Given the description of an element on the screen output the (x, y) to click on. 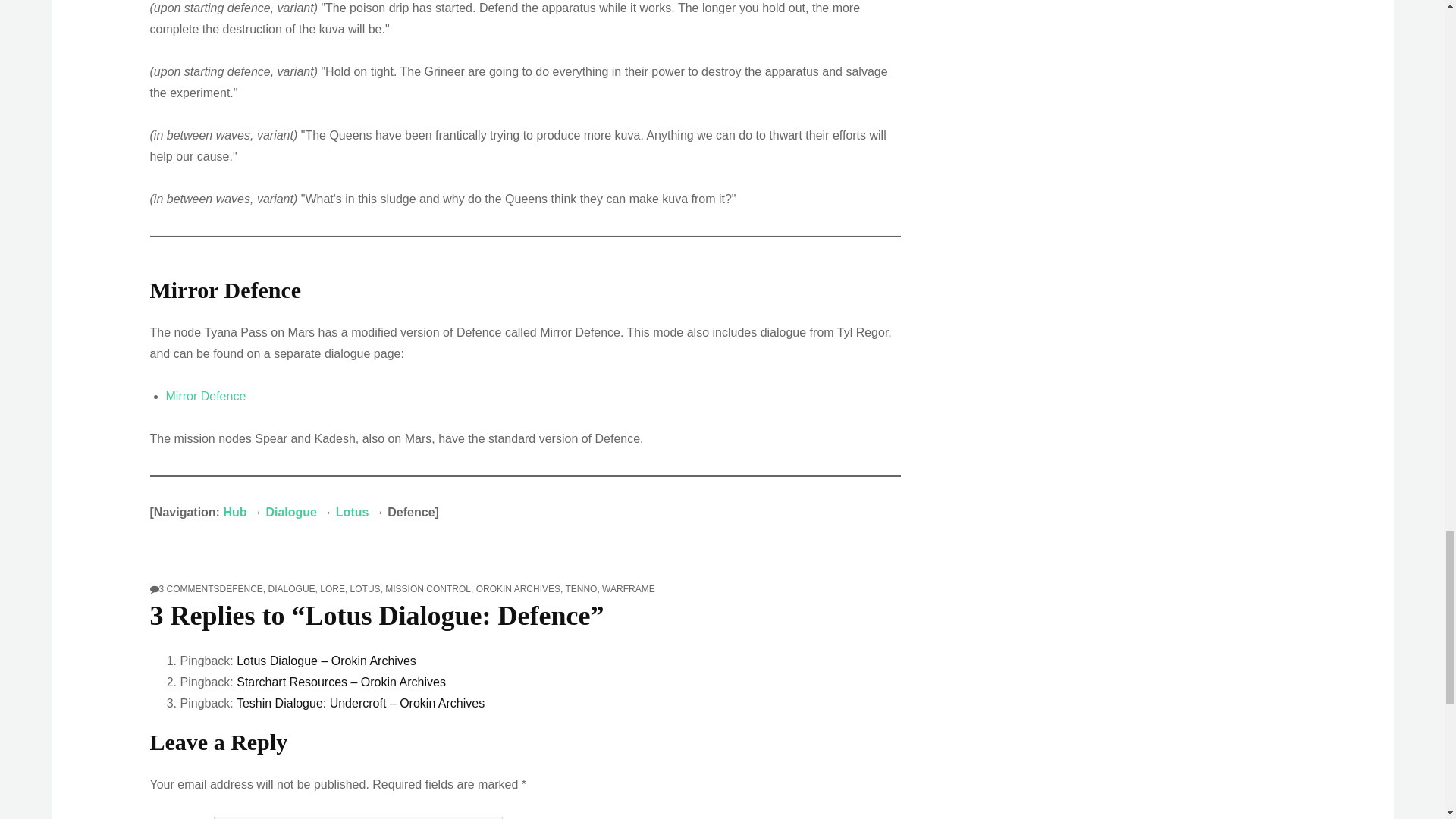
Lotus (188, 588)
Dialogue (352, 512)
Mirror Defence (290, 512)
Hub (205, 395)
